Given the description of an element on the screen output the (x, y) to click on. 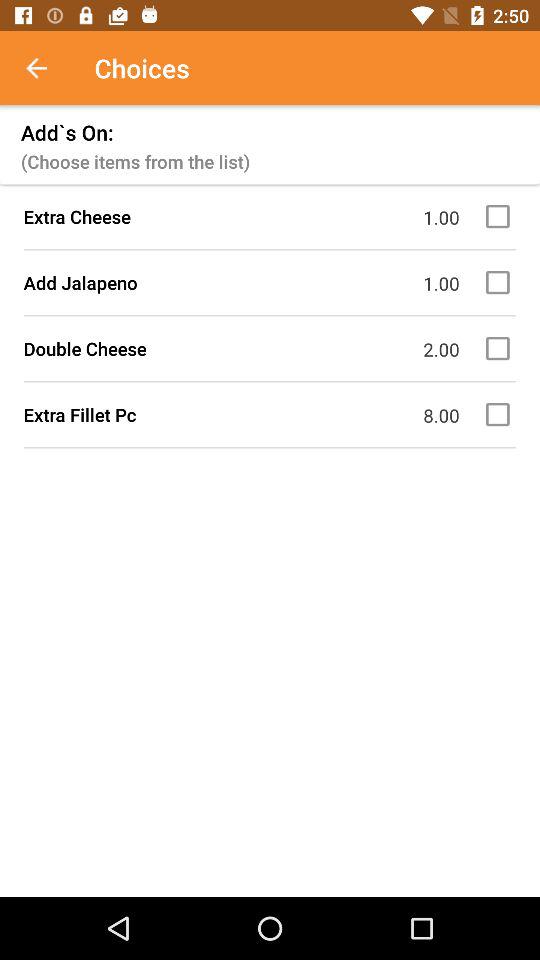
select extra cheese add-on (501, 216)
